Given the description of an element on the screen output the (x, y) to click on. 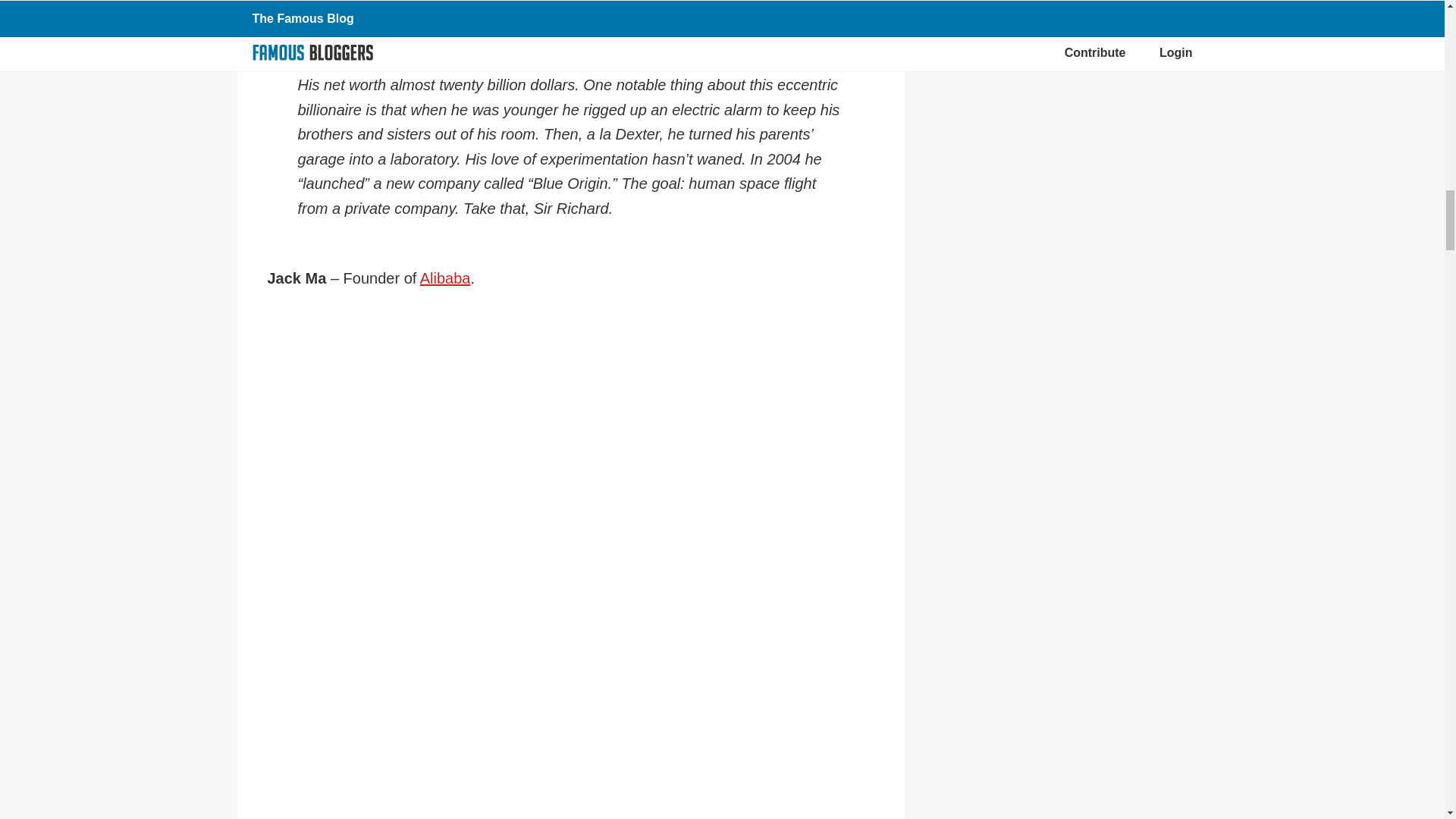
Alibaba (445, 278)
amazon (569, 4)
Alibaba (445, 278)
